Given the description of an element on the screen output the (x, y) to click on. 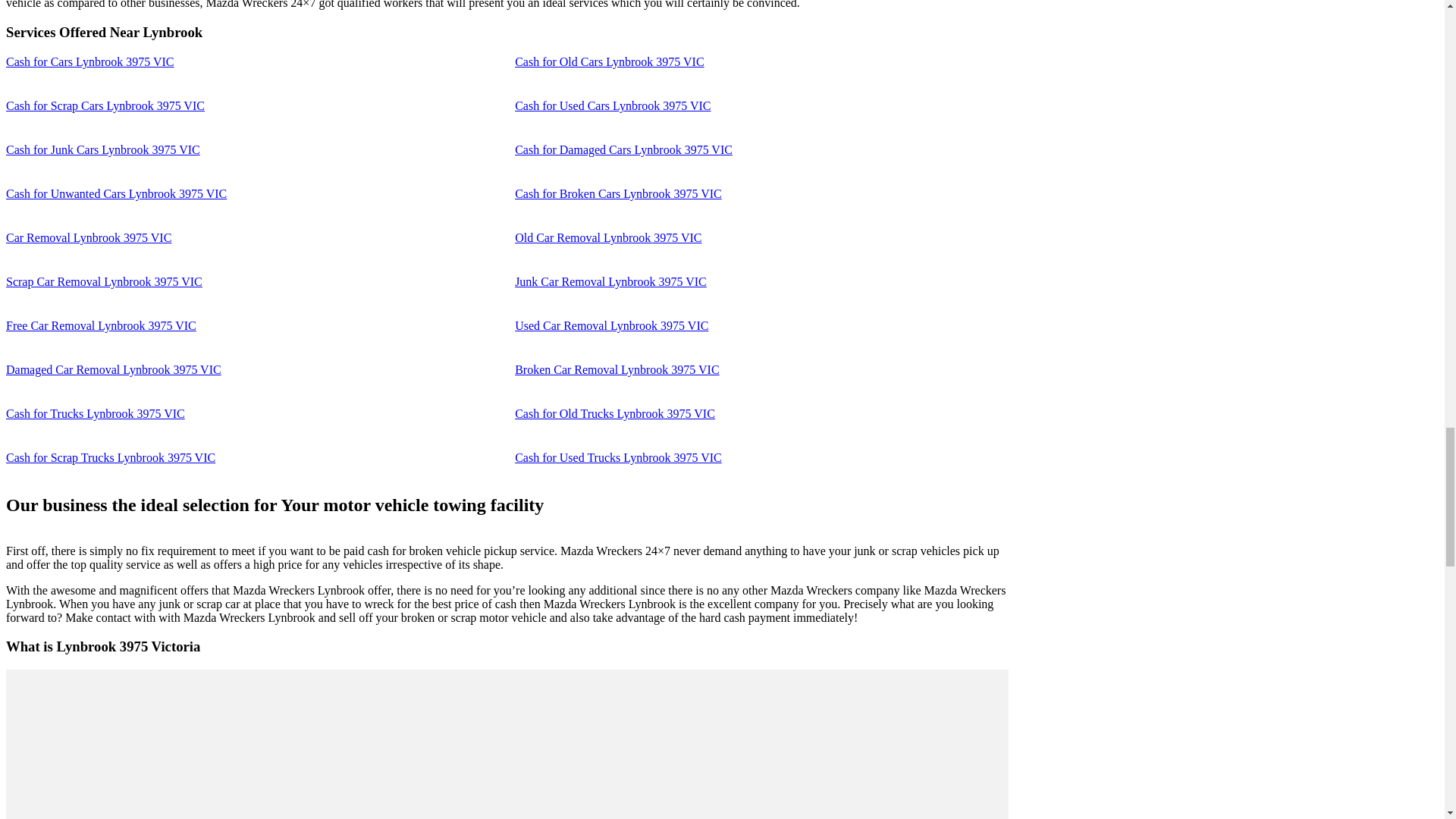
Junk Car Removal Lynbrook 3975 VIC (610, 281)
Cash for Junk Cars Lynbrook 3975 VIC (102, 149)
Cash for Old Cars Lynbrook 3975 VIC (609, 61)
Free Car Removal Lynbrook 3975 VIC (100, 325)
Broken Car Removal Lynbrook 3975 VIC (617, 369)
Cash for Used Cars Lynbrook 3975 VIC (612, 105)
Scrap Car Removal Lynbrook 3975 VIC (103, 281)
Broken Car Removal Lynbrook 3975 VIC (617, 369)
Cash for Old Cars Lynbrook 3975 VIC (609, 61)
Car Removal Lynbrook 3975 VIC (88, 237)
Damaged Car Removal Lynbrook 3975 VIC (113, 369)
Cash for Scrap Trucks Lynbrook 3975 VIC (110, 457)
Cash for Broken Cars Lynbrook 3975 VIC (618, 193)
Junk Car Removal Lynbrook 3975 VIC (610, 281)
Cash for Scrap Cars Lynbrook 3975 VIC (105, 105)
